Given the description of an element on the screen output the (x, y) to click on. 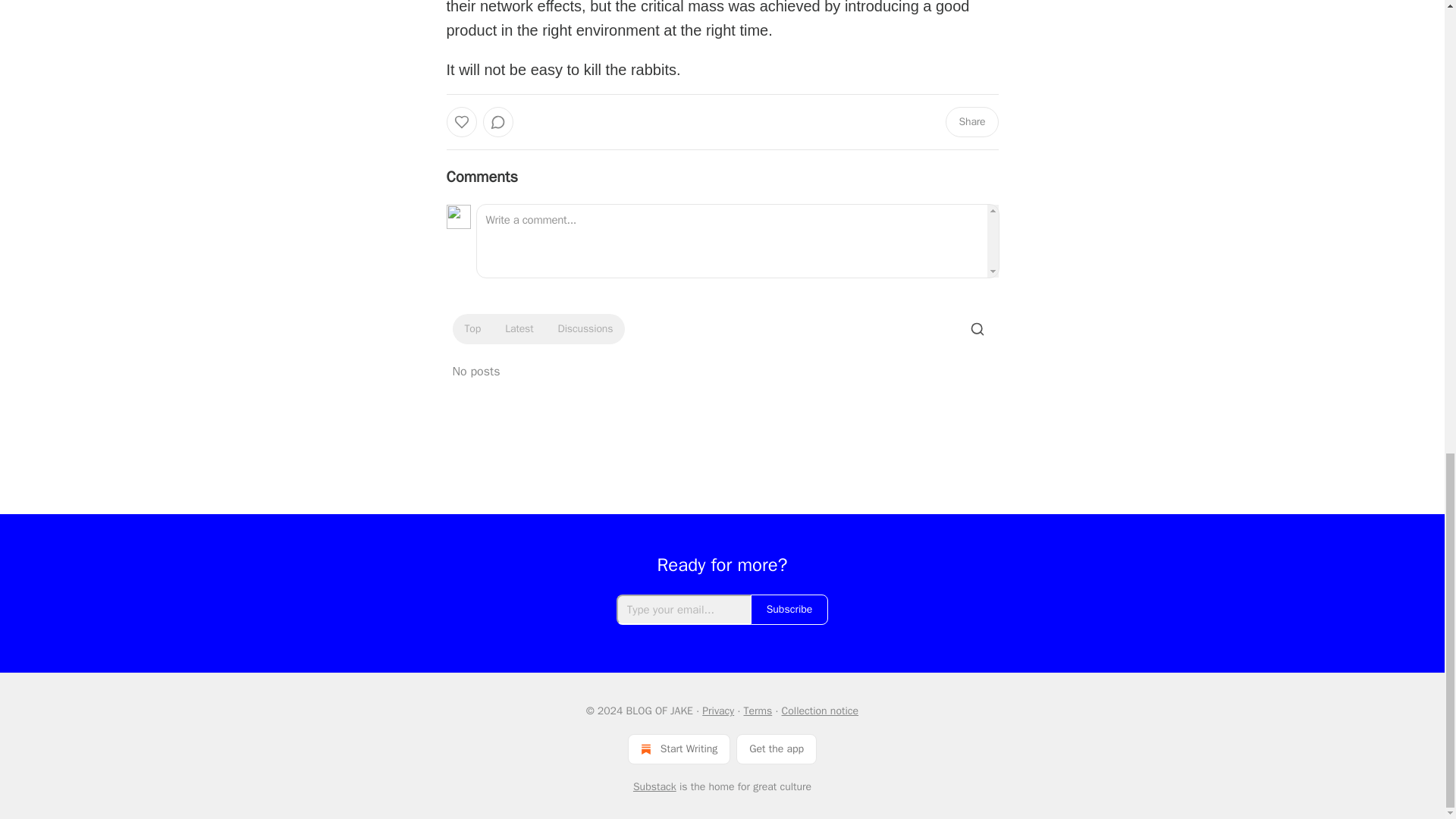
Start Writing (678, 748)
Share (970, 122)
Collection notice (820, 710)
Discussions (585, 328)
Subscribe (789, 609)
Terms (756, 710)
Latest (518, 328)
Top (471, 328)
Privacy (717, 710)
